Given the description of an element on the screen output the (x, y) to click on. 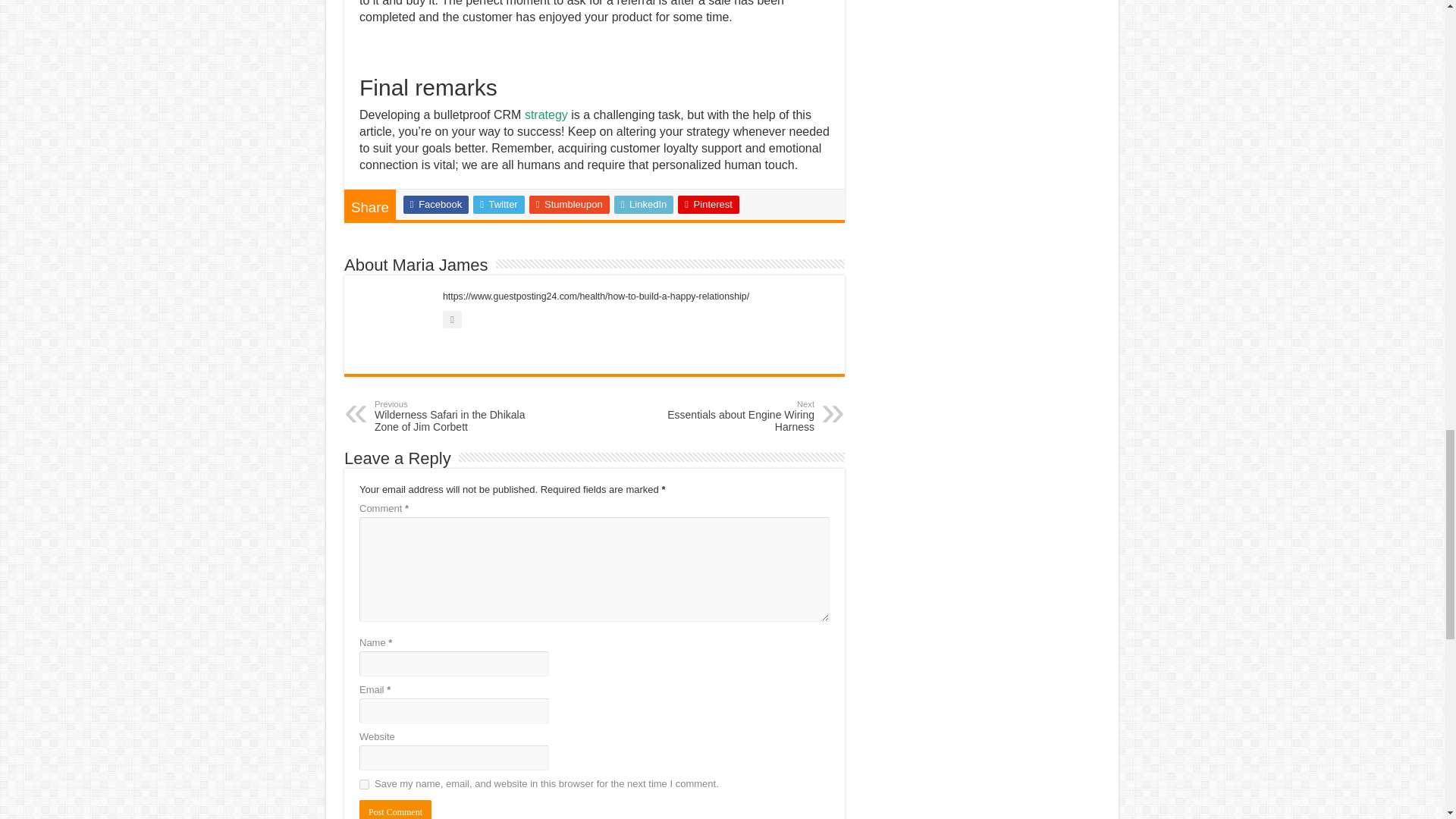
yes (364, 784)
Post Comment (394, 809)
